Given the description of an element on the screen output the (x, y) to click on. 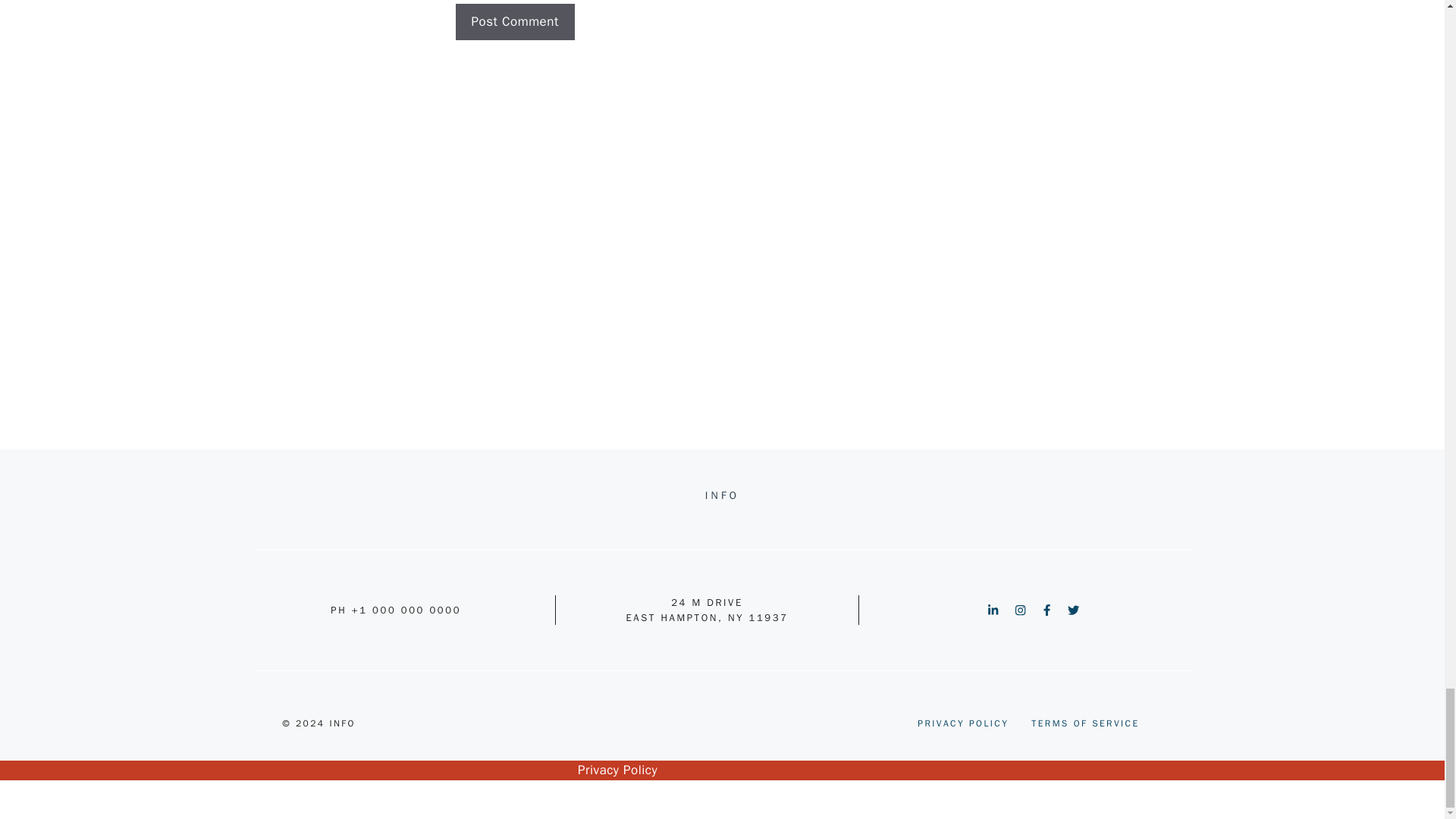
PRIVACY POLICY (963, 723)
Post Comment (513, 22)
TERMS OF SERVICE (1084, 723)
Post Comment (513, 22)
Privacy Policy (618, 770)
